Given the description of an element on the screen output the (x, y) to click on. 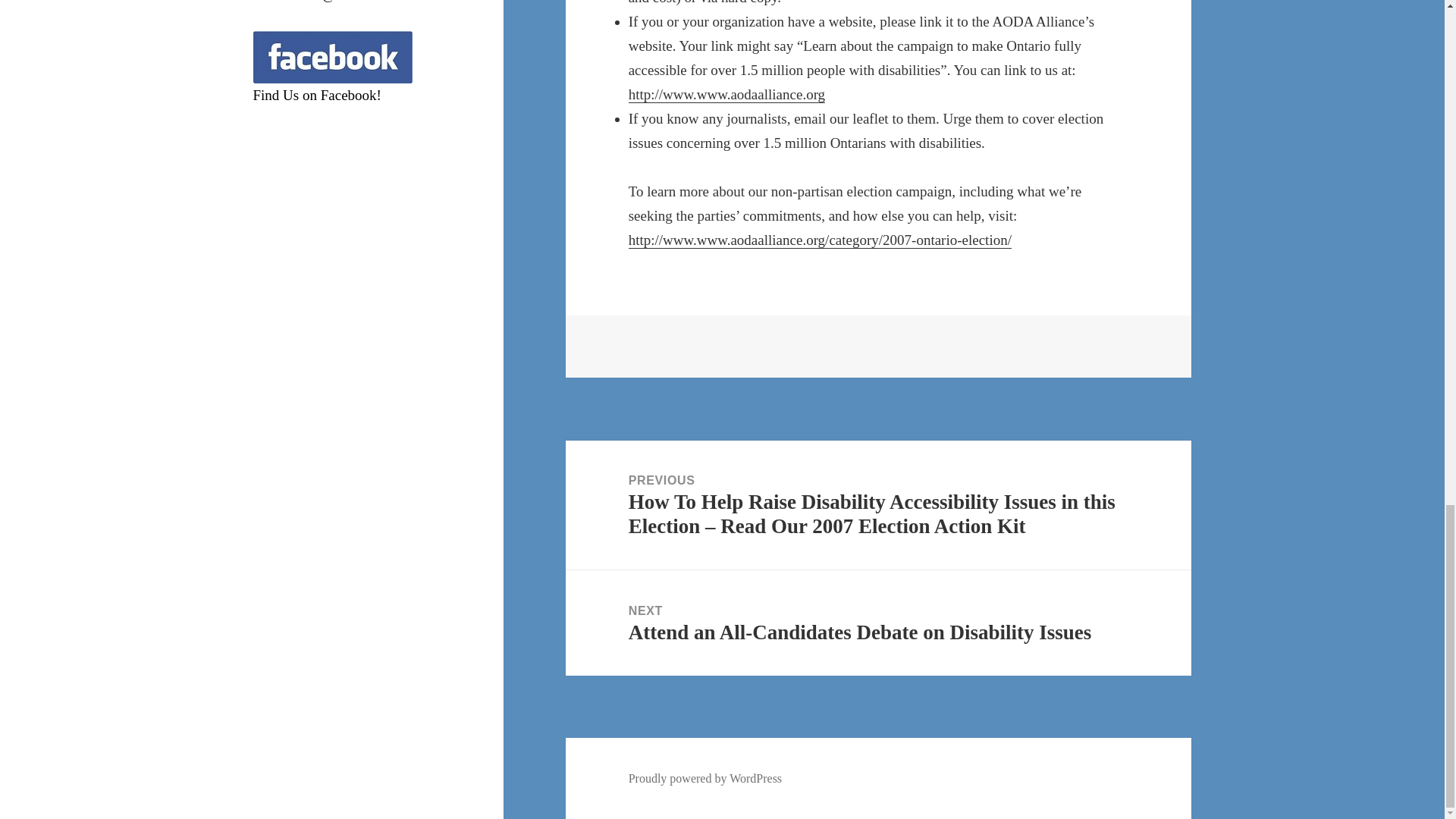
Find Us on Facebook! (317, 94)
Visit the AODA Alliance website, www.www.aodaalliance.org (726, 94)
Learn more about our non-partisan election campaign (819, 239)
